Given the description of an element on the screen output the (x, y) to click on. 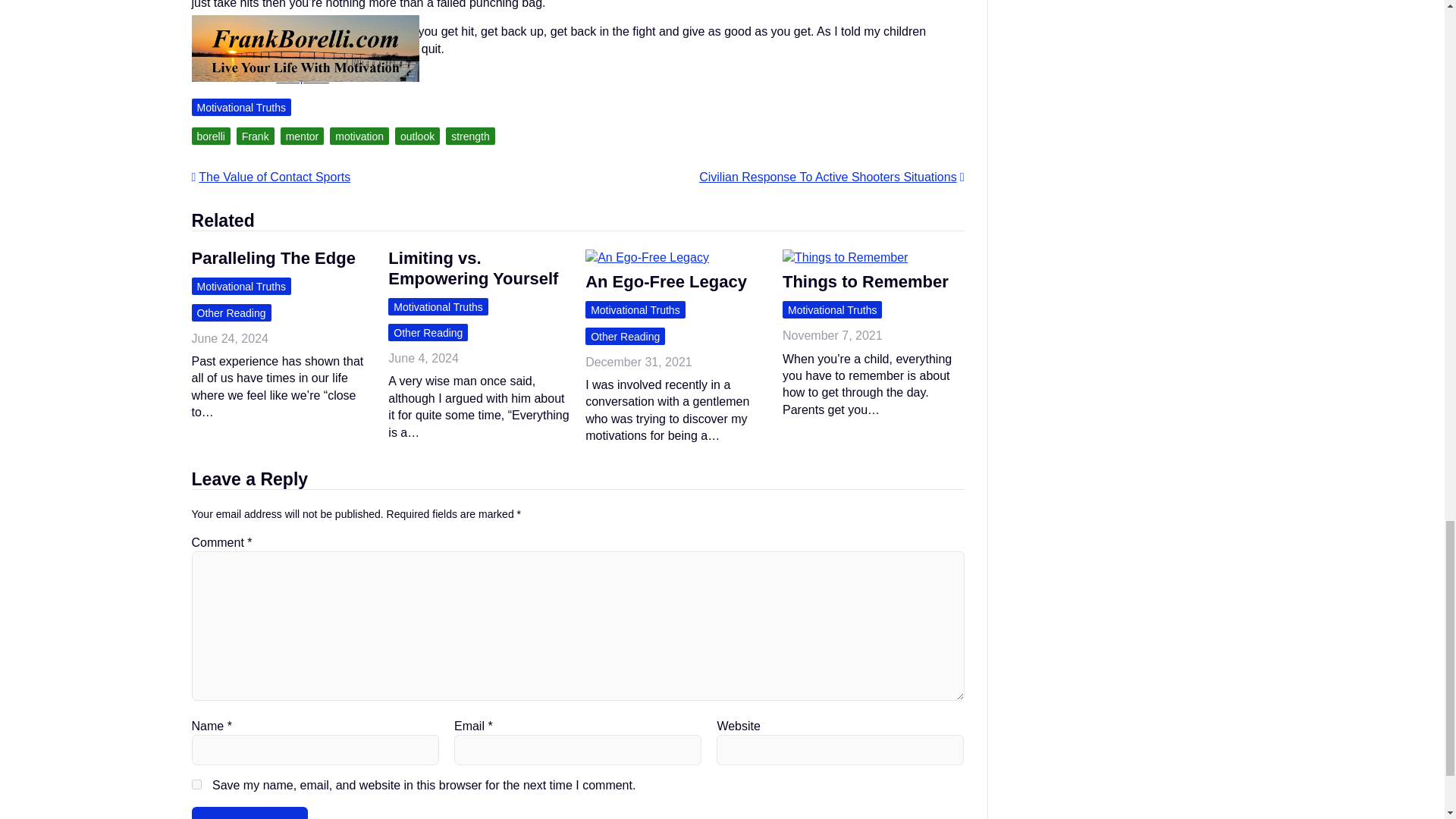
Post Comment (248, 812)
The Value of Contact Sports (270, 176)
Motivational Truths (437, 306)
Limiting vs. Empowering Yourself (472, 267)
yes (195, 784)
Paralleling The Edge (272, 257)
Motivational Truths (240, 285)
borelli (210, 135)
Other Reading (230, 312)
276 posts (302, 77)
